Given the description of an element on the screen output the (x, y) to click on. 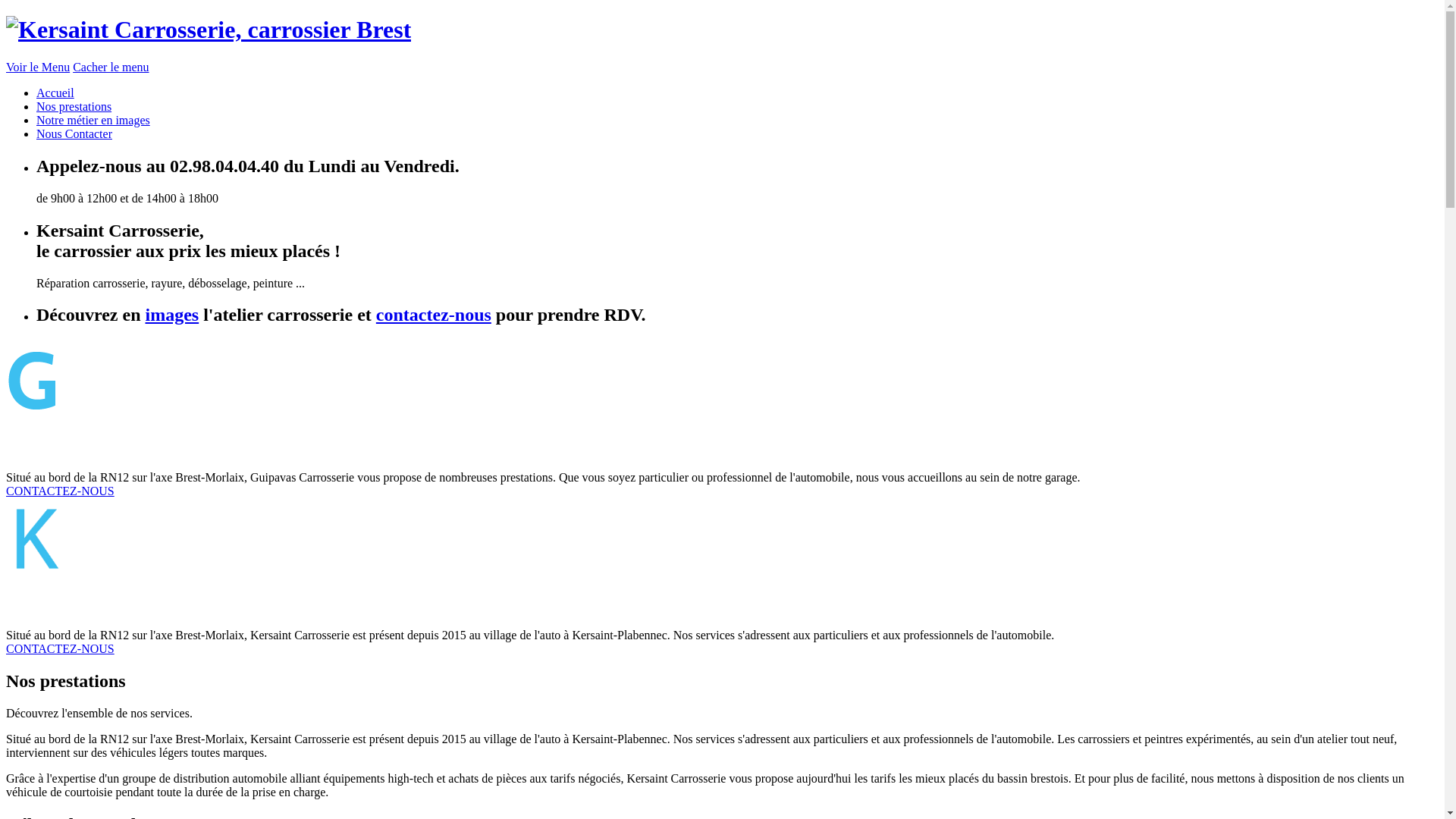
CONTACTEZ-NOUS Element type: text (60, 490)
CONTACTEZ-NOUS Element type: text (60, 648)
Voir le Menu Element type: text (37, 66)
Cacher le menu Element type: text (110, 66)
contactez-nous Element type: text (433, 314)
Nos prestations Element type: text (73, 106)
Nous Contacter Element type: text (74, 133)
Accueil Element type: text (55, 92)
images Element type: text (172, 314)
